Given the description of an element on the screen output the (x, y) to click on. 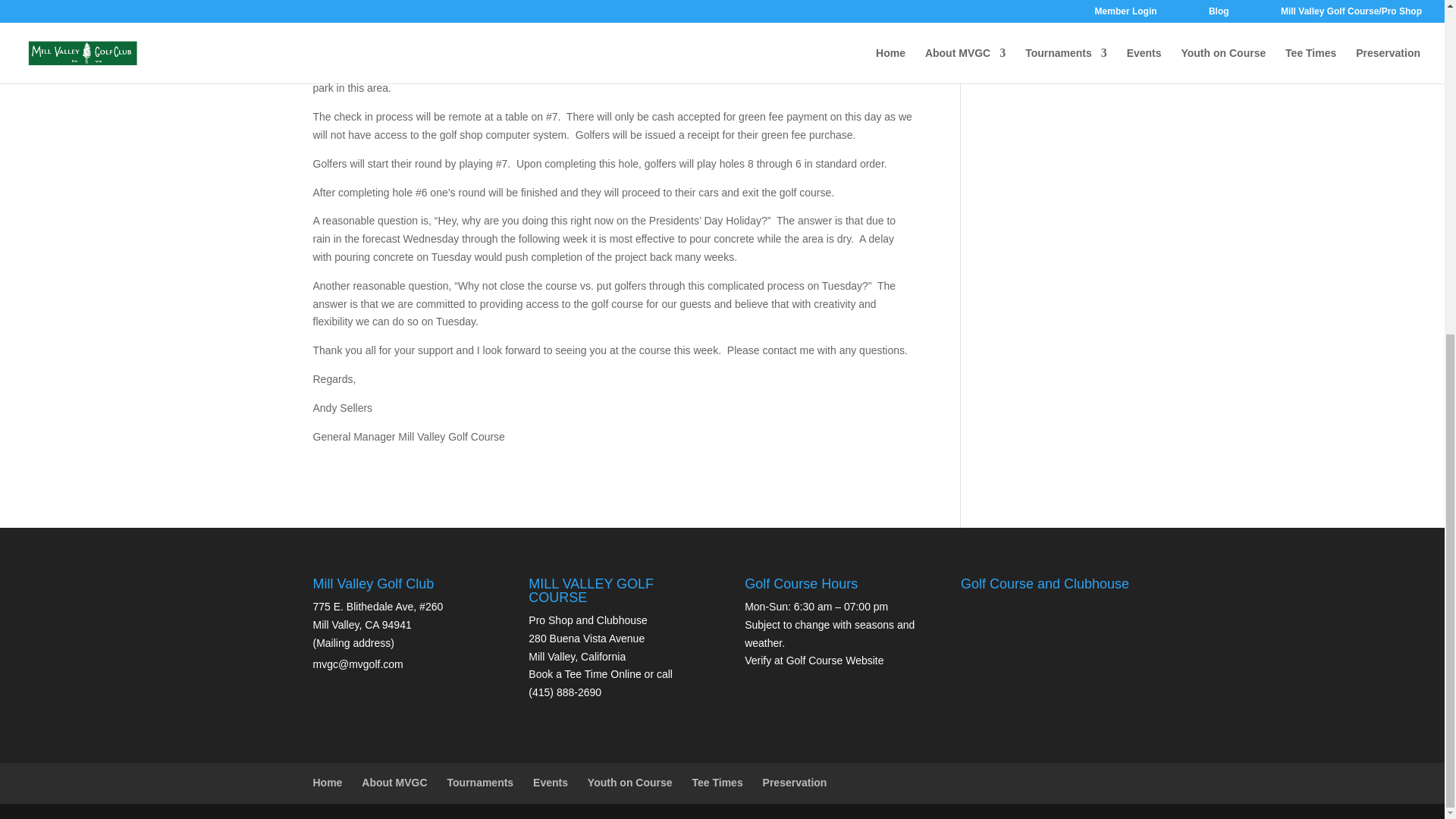
About MVGC (393, 782)
Book a Tee Time Online (584, 674)
Golf Course Website (834, 660)
Events (549, 782)
Youth on Course (630, 782)
Tournaments (479, 782)
Preservation (794, 782)
Home (327, 782)
Tee Times (716, 782)
